Given the description of an element on the screen output the (x, y) to click on. 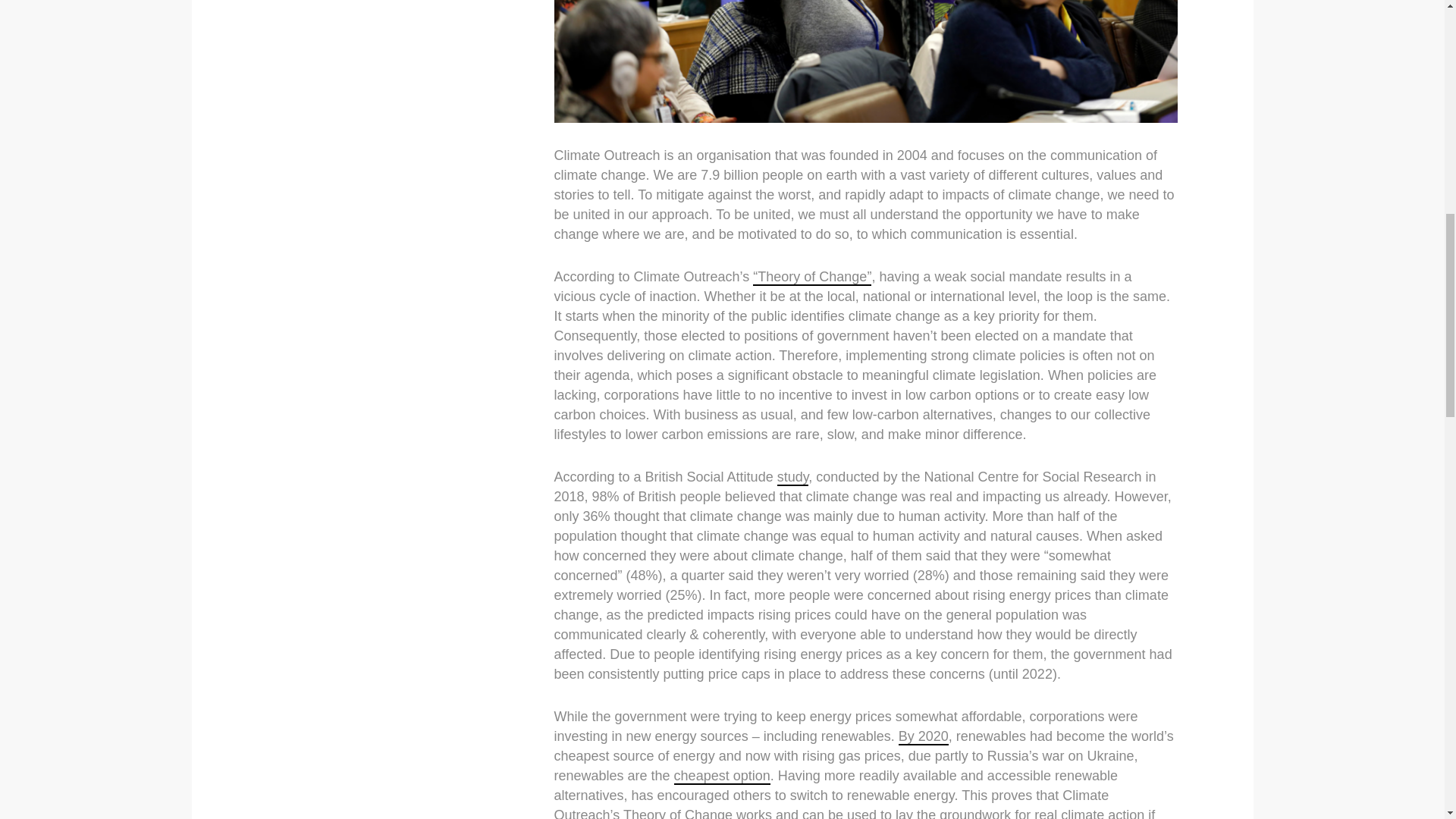
study (793, 477)
